Given the description of an element on the screen output the (x, y) to click on. 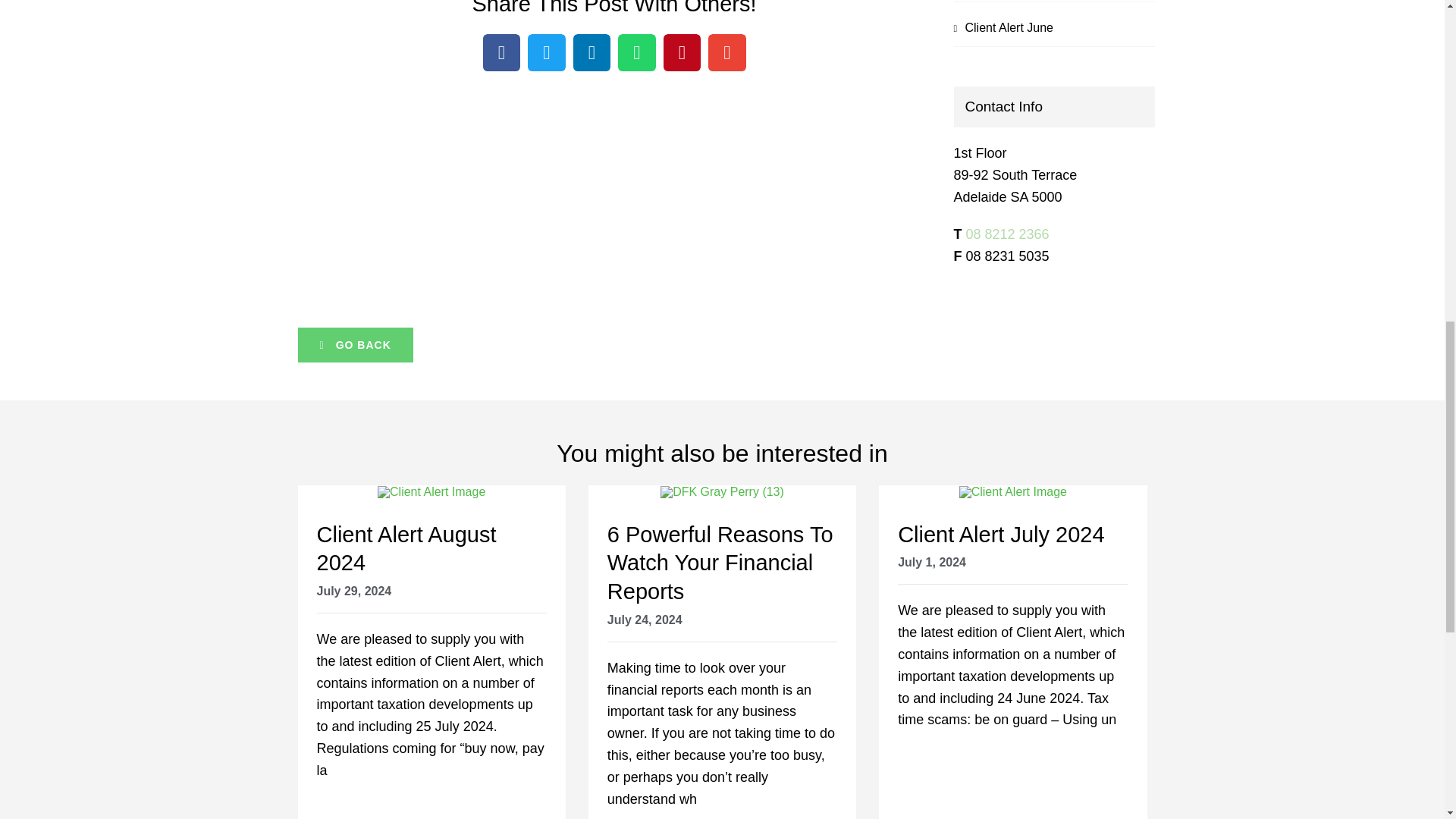
GO BACK (354, 344)
Client Alert Image (1013, 491)
Client Alert June (1007, 27)
Client Alert Image (430, 491)
08 8212 2366 (1007, 233)
